Given the description of an element on the screen output the (x, y) to click on. 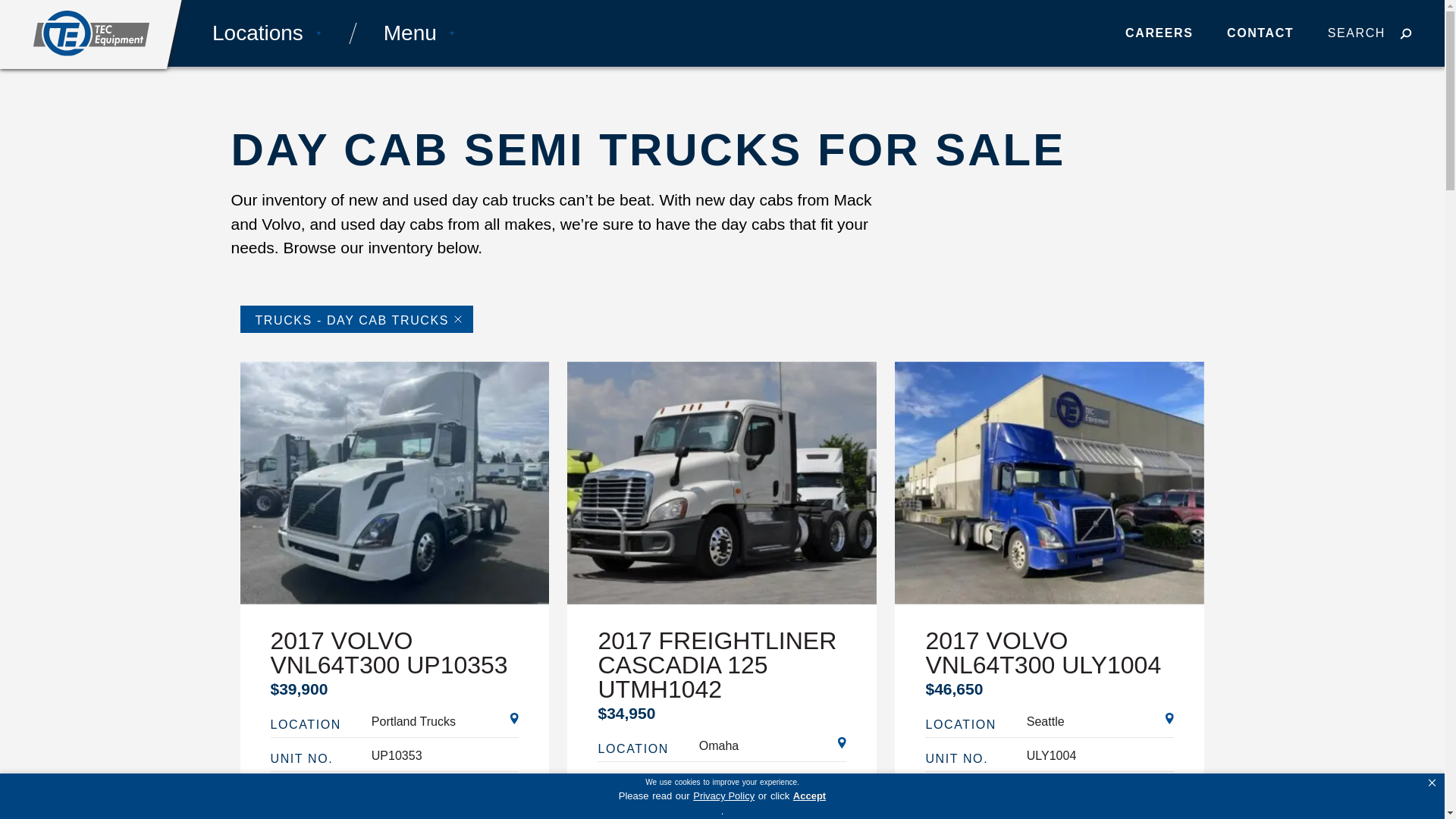
Home (91, 33)
Privacy Policy (723, 795)
CAREERS (1158, 32)
SEARCH (1370, 33)
CONTACT (1260, 32)
Accept (809, 795)
Portland Trucks (445, 721)
Omaha (772, 746)
Seattle (1100, 721)
